Given the description of an element on the screen output the (x, y) to click on. 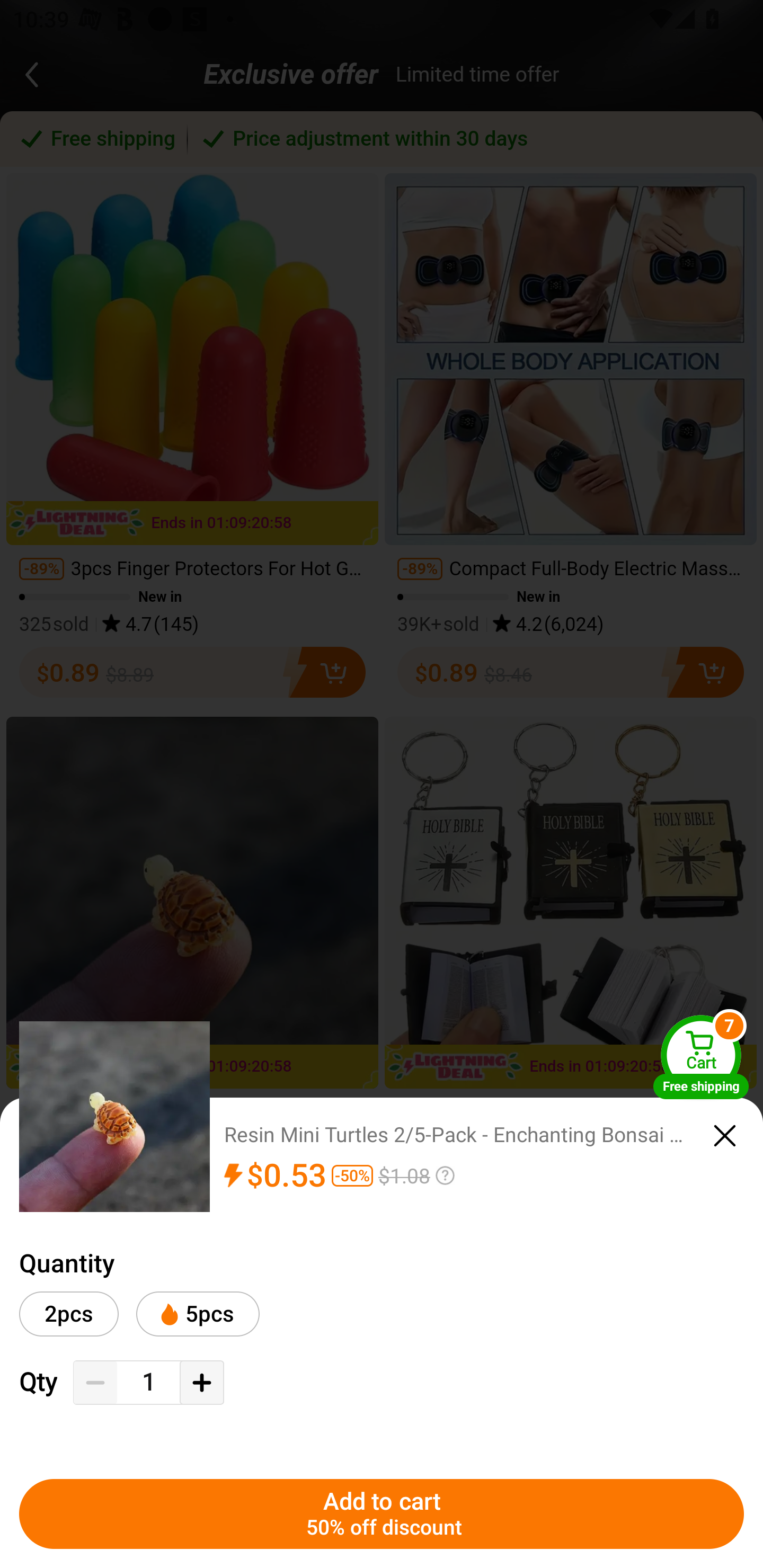
Cart Free shipping Cart (701, 1056)
close (724, 1135)
 2pcs (69, 1313)
 5pcs (197, 1313)
Decrease Quantity Button (95, 1382)
Add Quantity Button (201, 1382)
1 (148, 1382)
Add to cart  50% off discount (381, 1513)
